Given the description of an element on the screen output the (x, y) to click on. 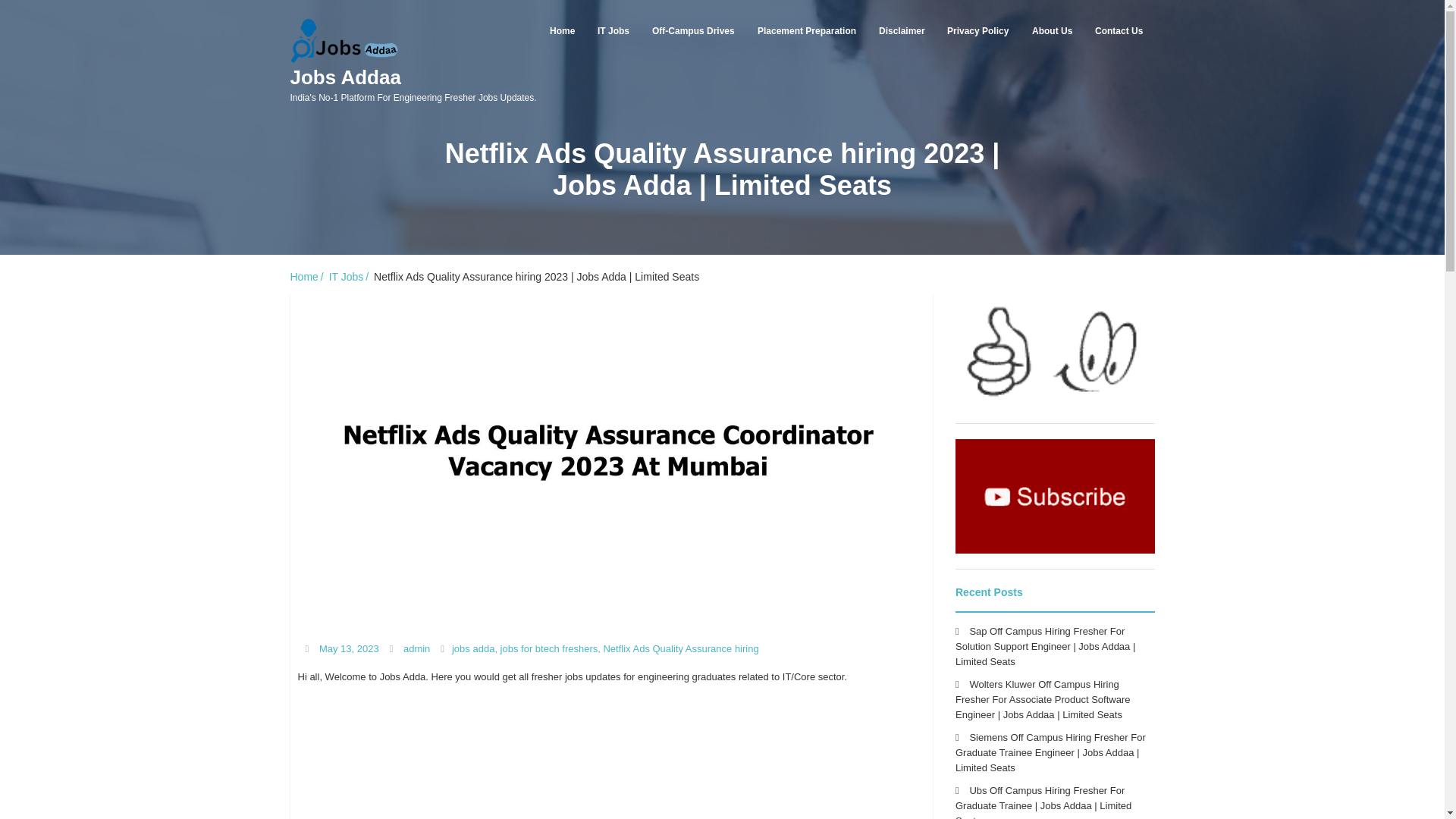
Netflix Ads Quality Assurance hiring (680, 648)
Disclaimer (901, 30)
jobs adda (473, 648)
May 13, 2023 (348, 648)
Contact Us (1118, 30)
jobs for btech freshers (549, 648)
6:43 pm (348, 648)
Home (306, 276)
IT Jobs (612, 30)
